Given the description of an element on the screen output the (x, y) to click on. 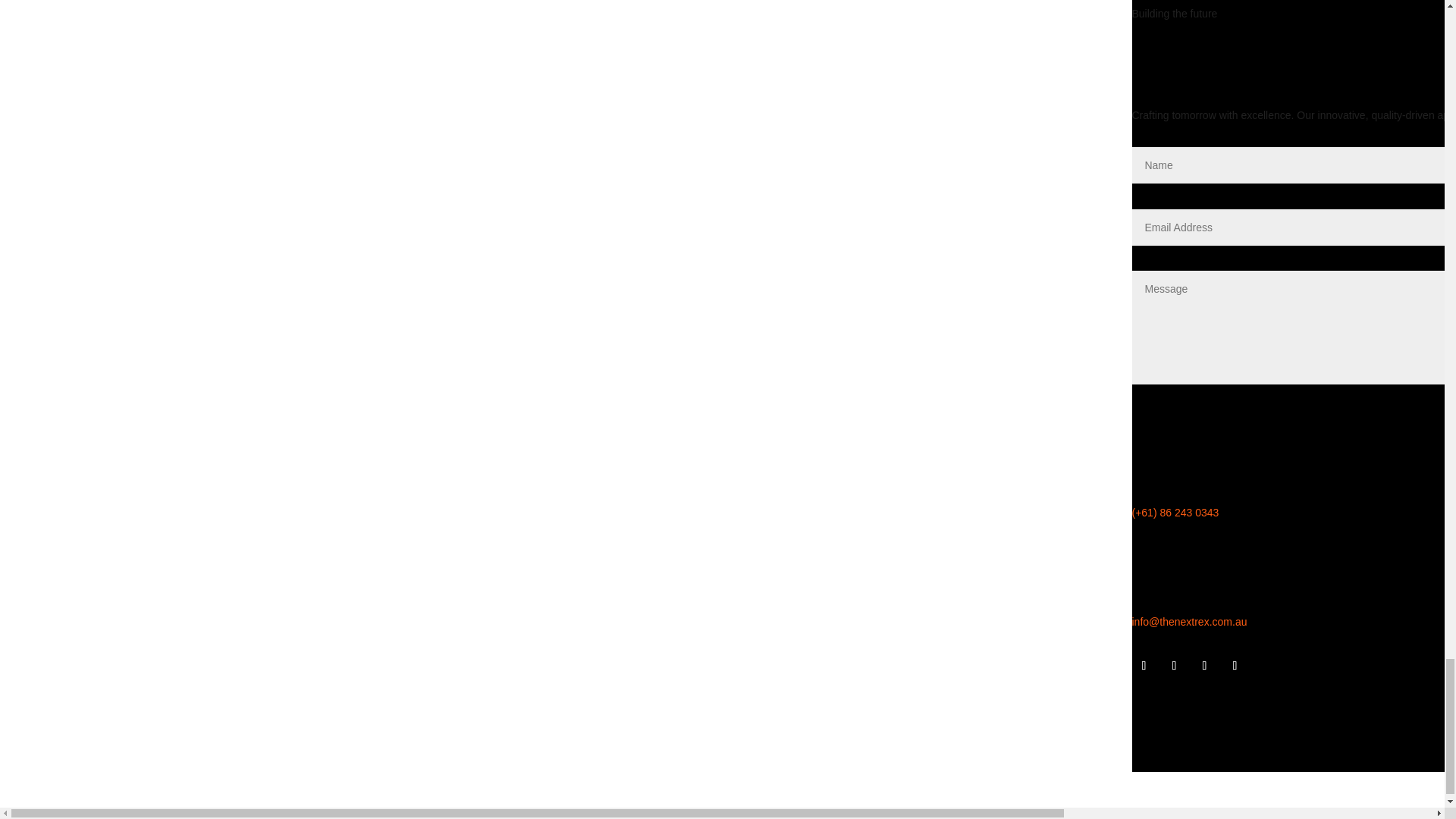
Follow on Youtube (1234, 665)
Follow on X (1173, 665)
Follow on Facebook (1143, 665)
Follow on LinkedIn (1203, 665)
